Given the description of an element on the screen output the (x, y) to click on. 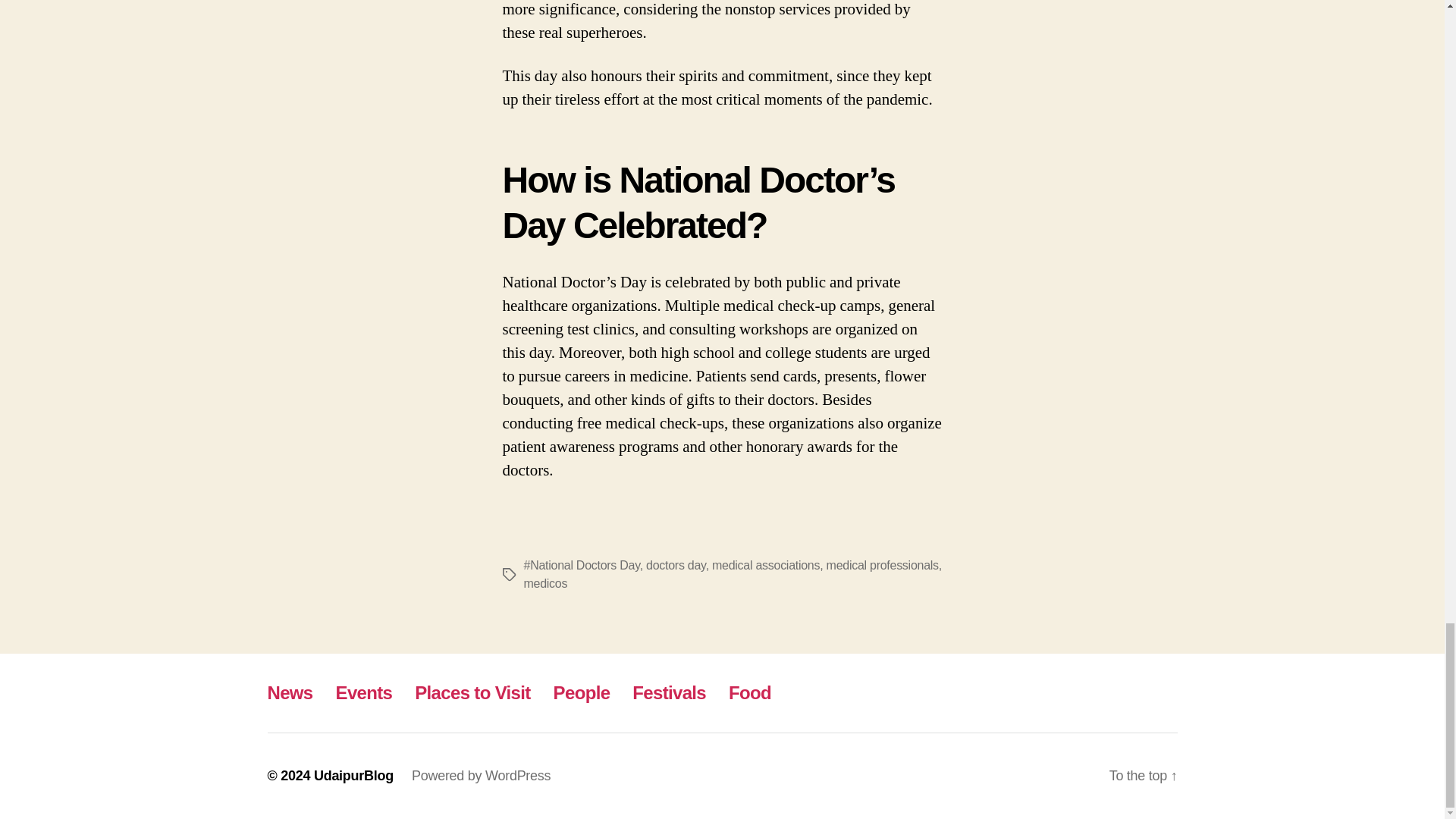
medical associations (765, 564)
Events (364, 692)
medical professionals (883, 564)
medicos (544, 583)
Places to Visit (471, 692)
News (289, 692)
doctors day (676, 564)
